Given the description of an element on the screen output the (x, y) to click on. 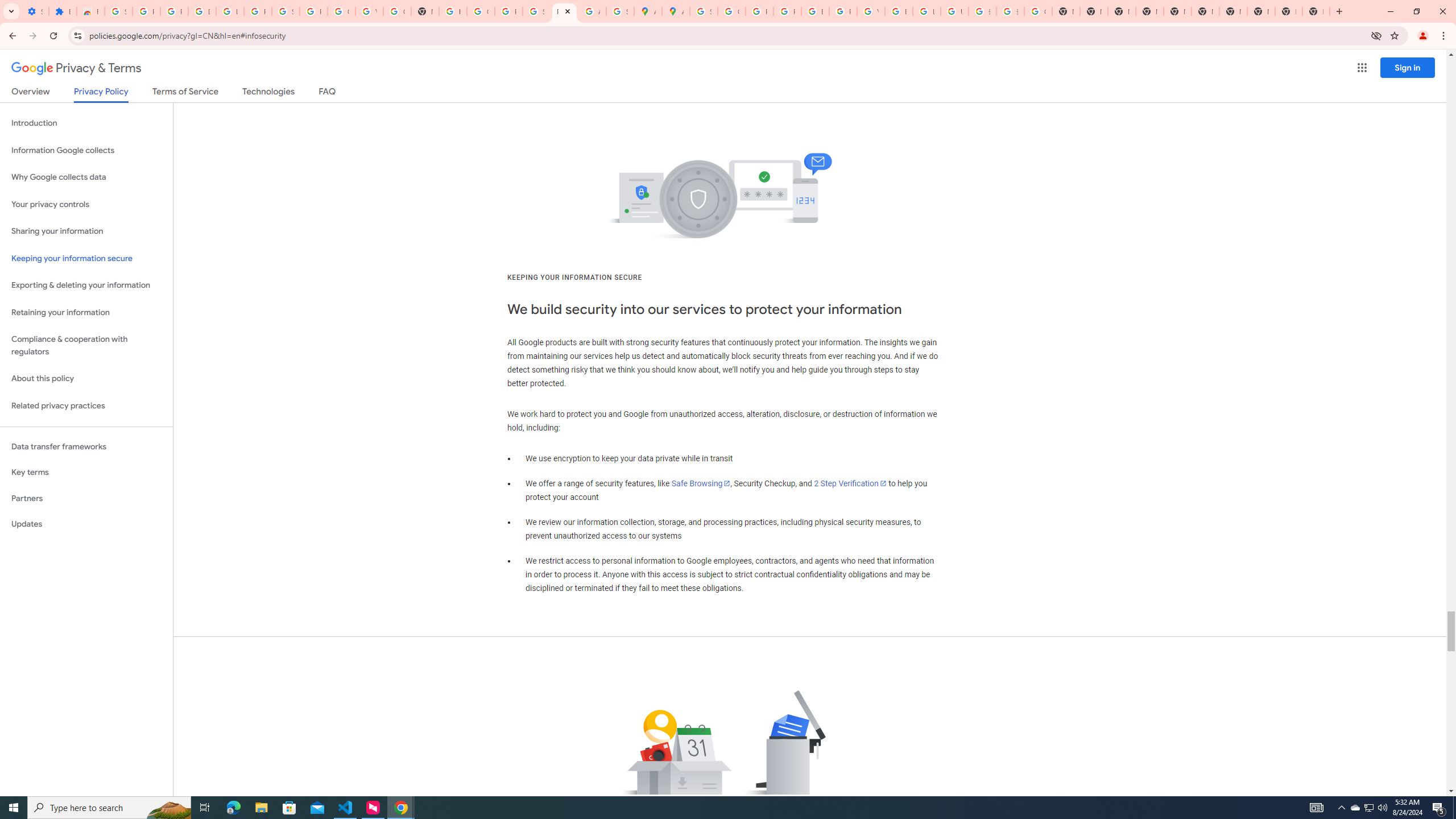
https://scholar.google.com/ (452, 11)
Your privacy controls (86, 204)
Google Images (1038, 11)
Why Google collects data (86, 176)
